Given the description of an element on the screen output the (x, y) to click on. 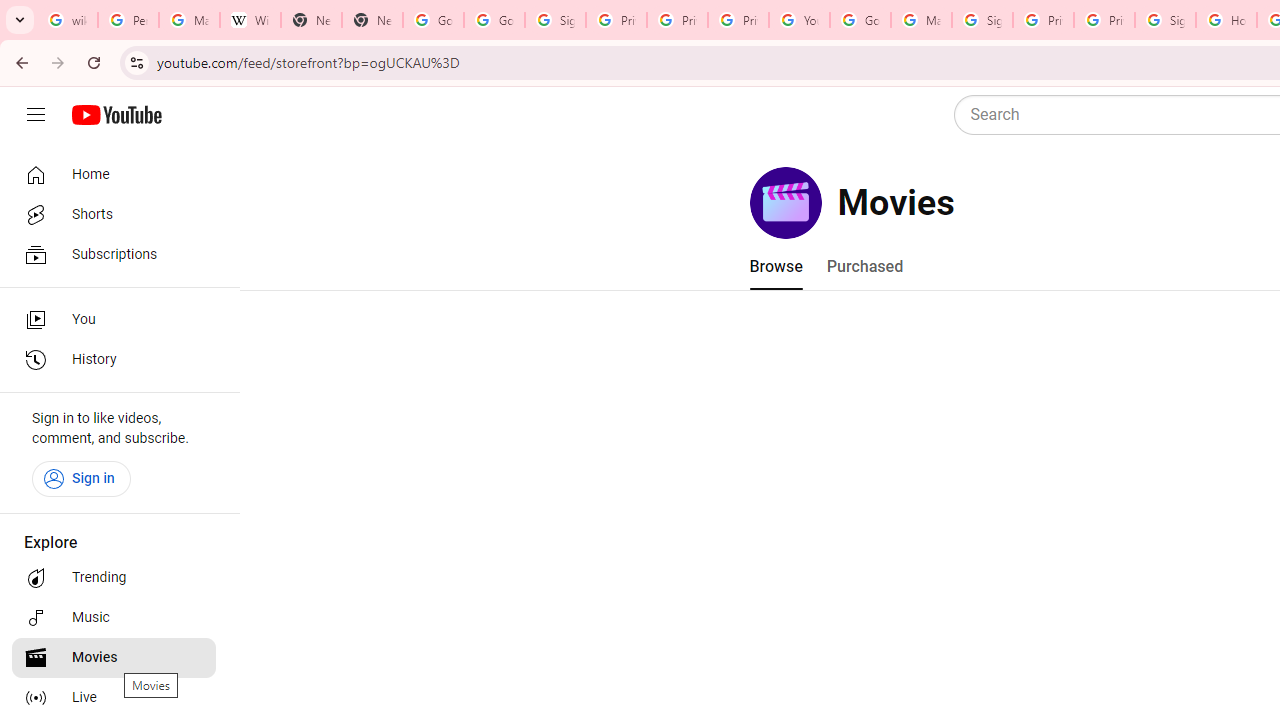
New Tab (372, 20)
Google Account Help (859, 20)
Sign in - Google Accounts (1165, 20)
Music (113, 617)
Guide (35, 115)
Trending (113, 578)
Shorts (113, 214)
Purchased (864, 266)
YouTube Home (116, 115)
Browse (775, 266)
